Given the description of an element on the screen output the (x, y) to click on. 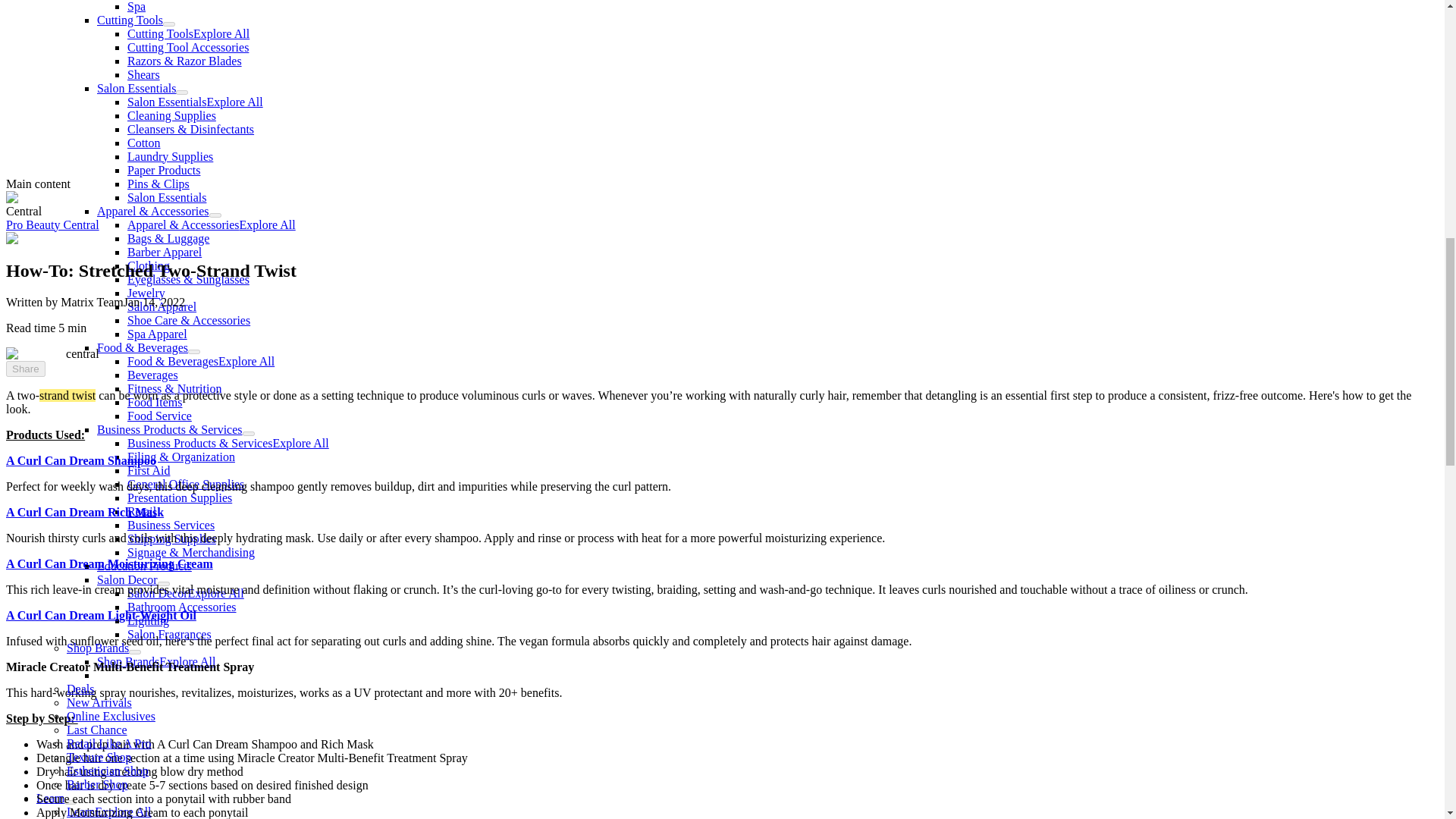
Pro Beauty Central (52, 224)
